Given the description of an element on the screen output the (x, y) to click on. 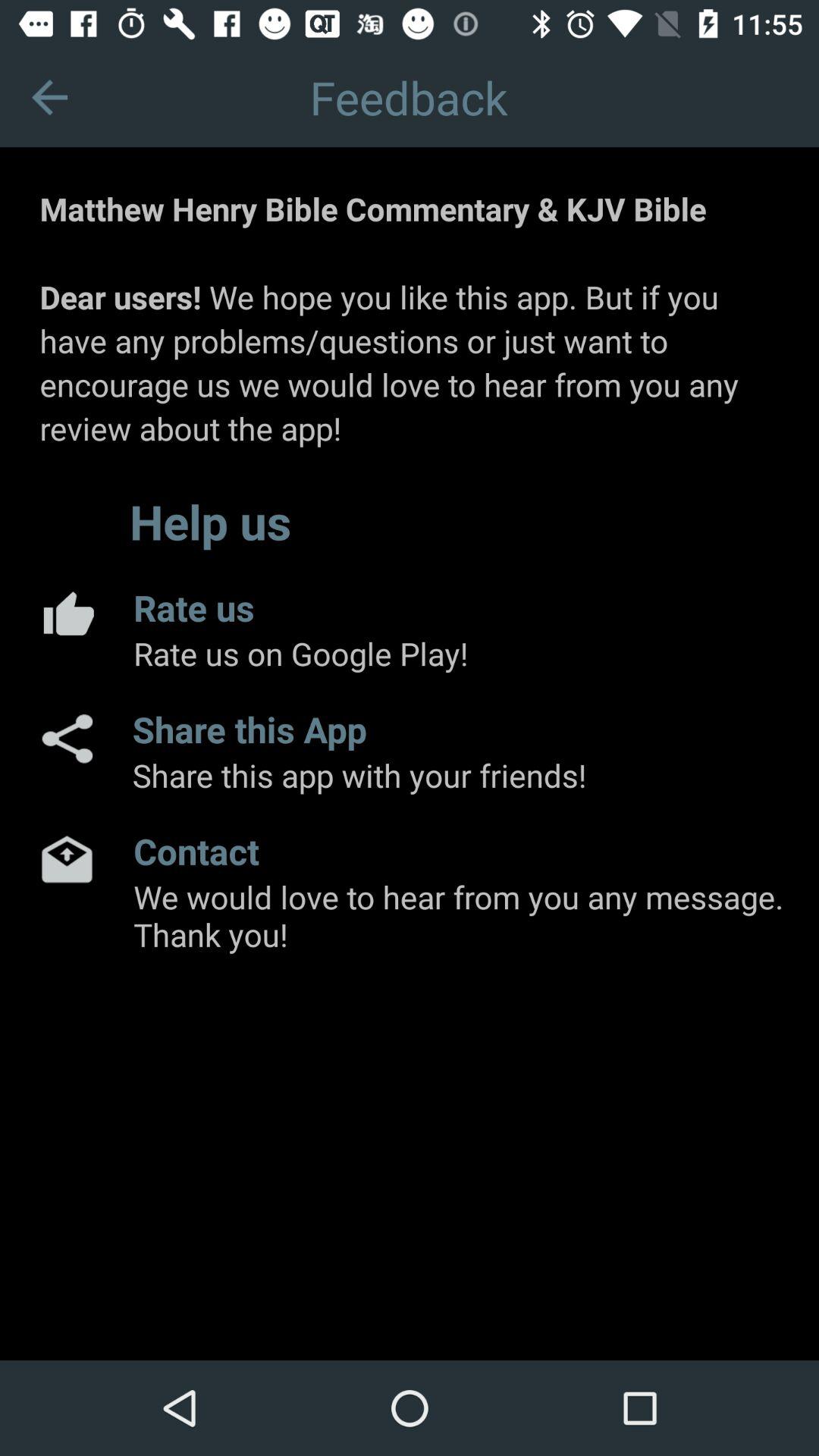
turn off the item next to the feedback app (49, 97)
